Given the description of an element on the screen output the (x, y) to click on. 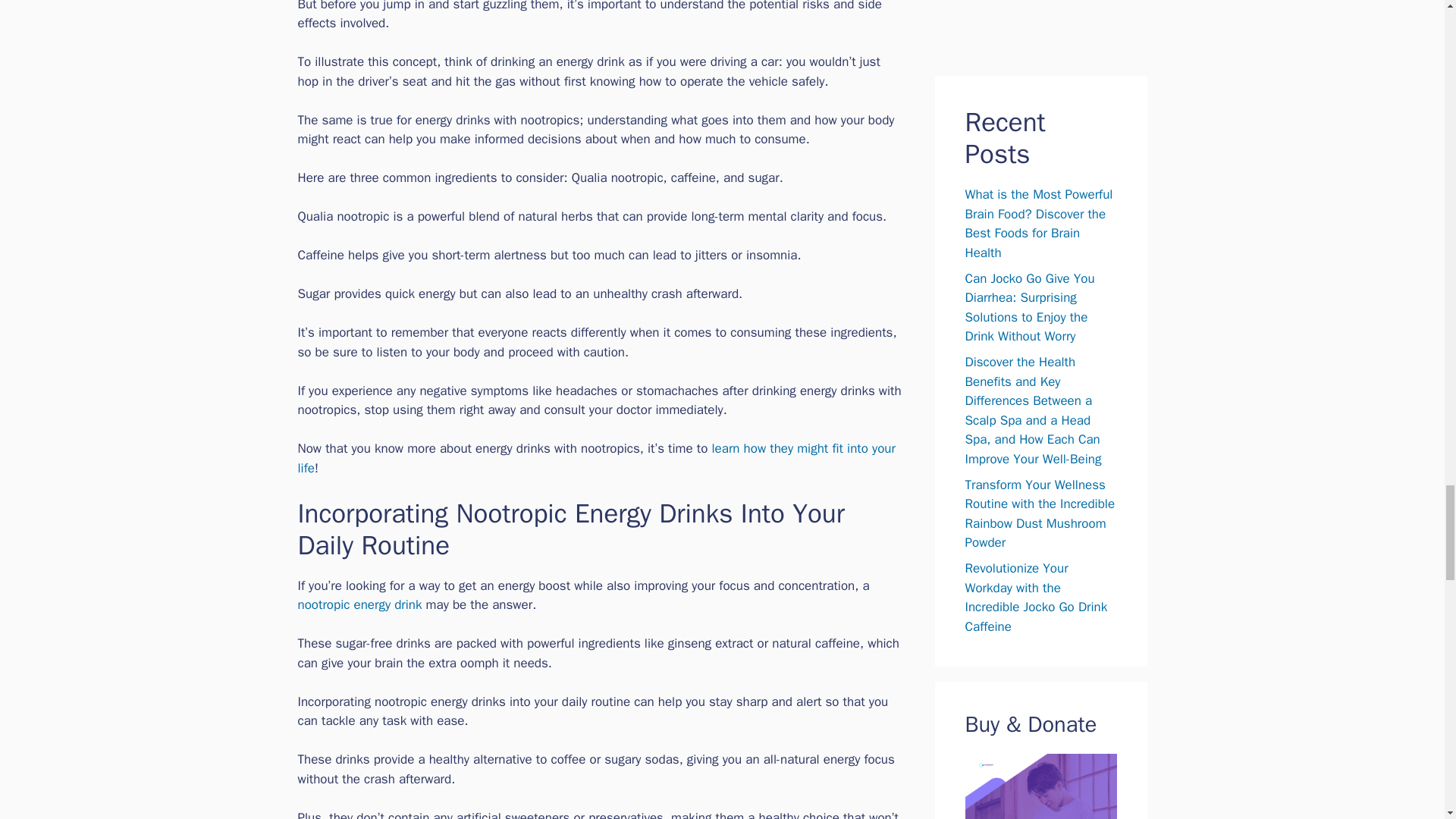
learn how they might fit into your life (596, 457)
nootropic energy drink (359, 604)
